Given the description of an element on the screen output the (x, y) to click on. 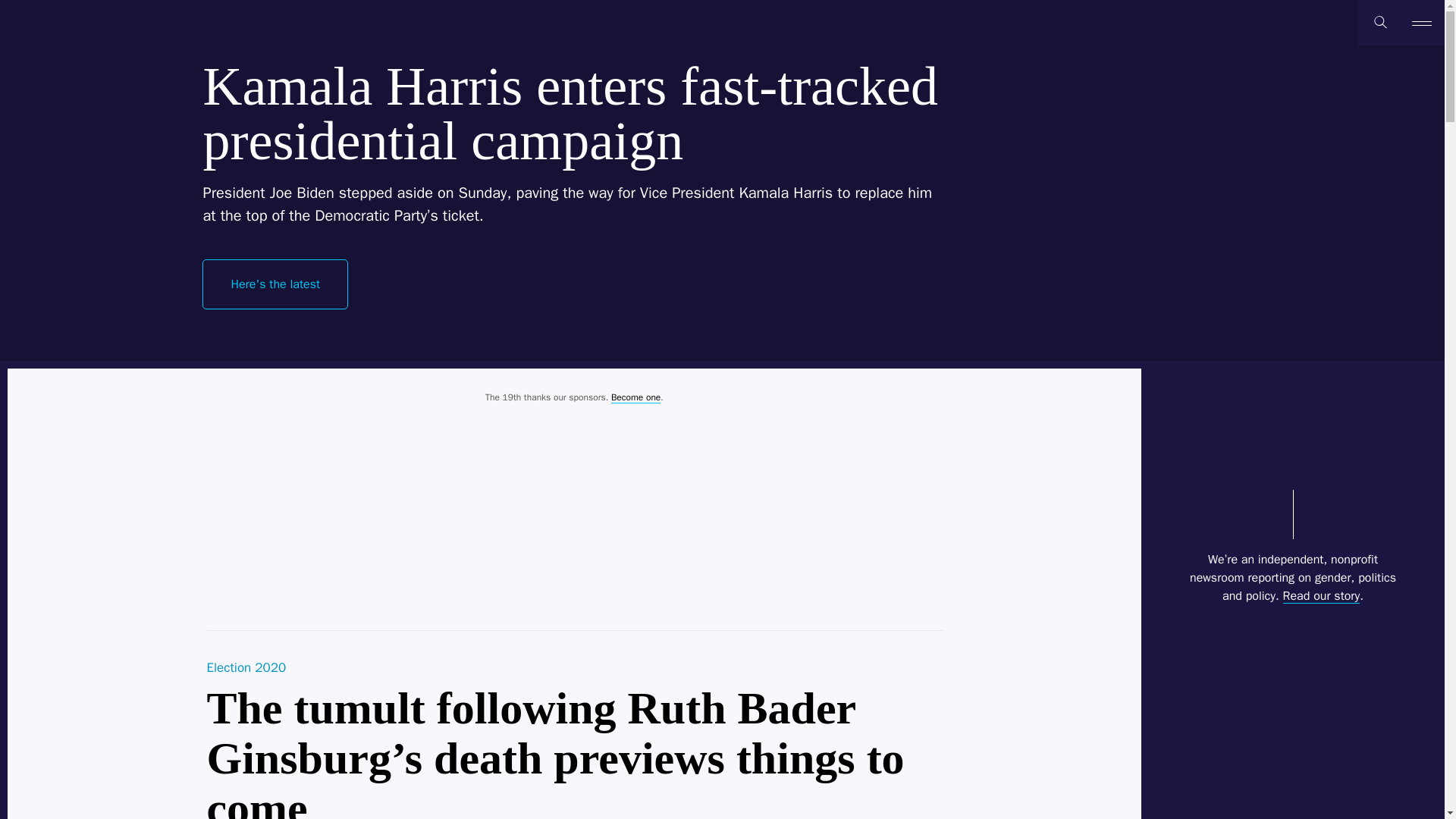
Here's the latest (274, 284)
